Given the description of an element on the screen output the (x, y) to click on. 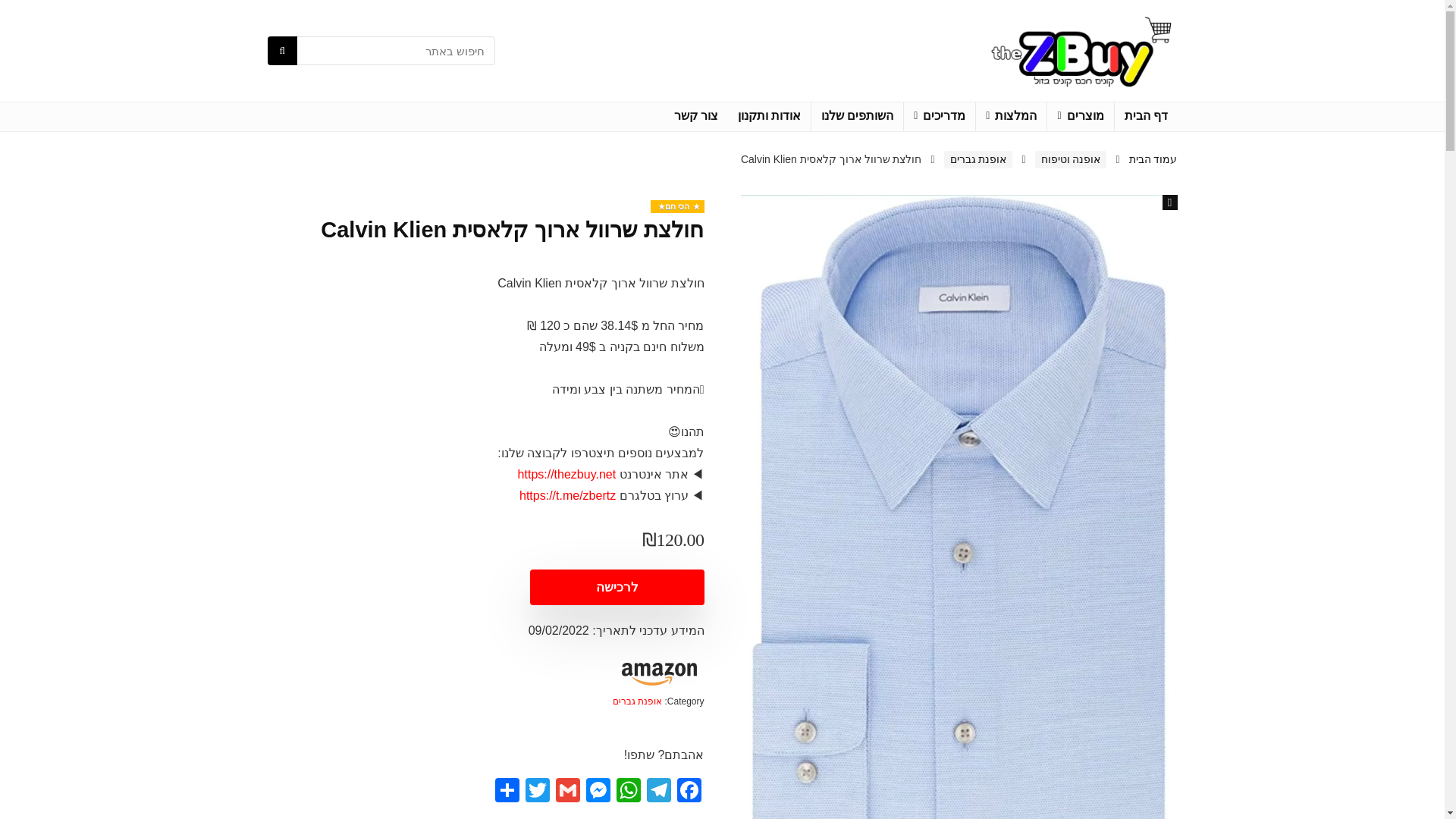
WhatsApp (627, 791)
Gmail (566, 791)
Telegram (657, 791)
Twitter (536, 791)
Facebook (687, 791)
Messenger (597, 791)
